Given the description of an element on the screen output the (x, y) to click on. 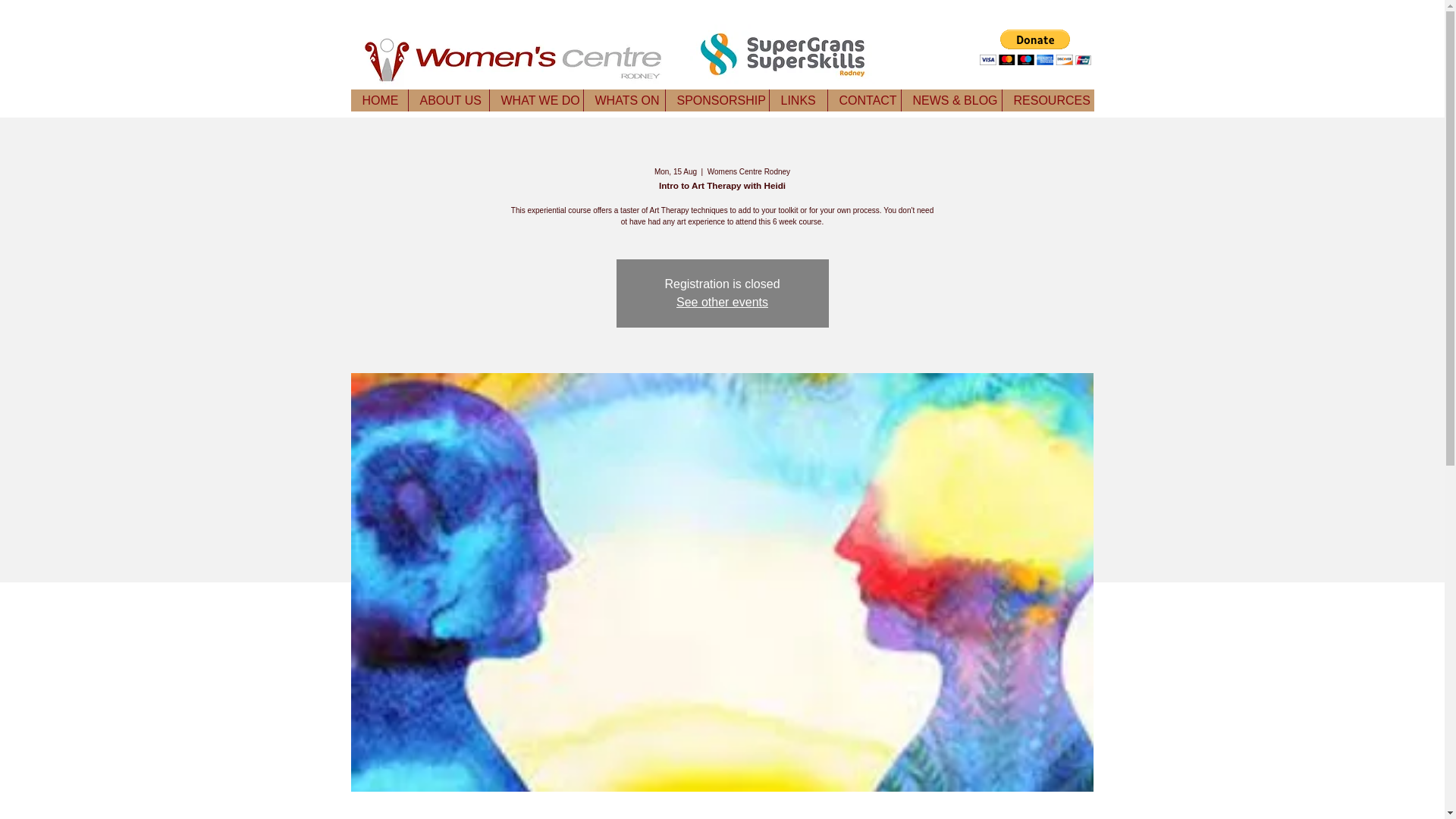
WHAT WE DO (534, 100)
SPONSORSHIP (715, 100)
See other events (722, 301)
ABOUT US (448, 100)
LINKS (797, 100)
CONTACT (863, 100)
RESOURCES (1047, 100)
WHATS ON (622, 100)
HOME (378, 100)
